Given the description of an element on the screen output the (x, y) to click on. 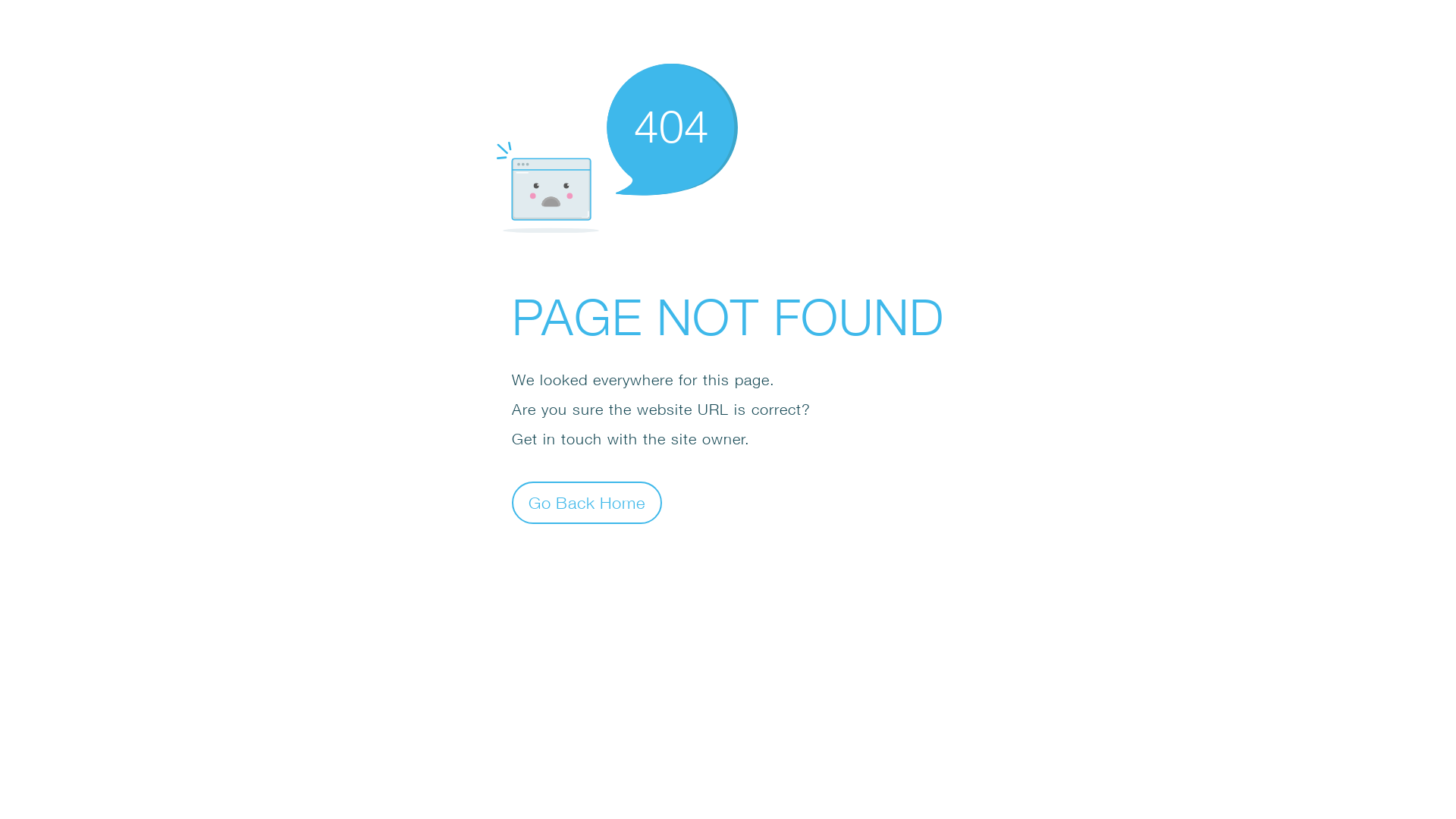
Go Back Home Element type: text (586, 502)
